Given the description of an element on the screen output the (x, y) to click on. 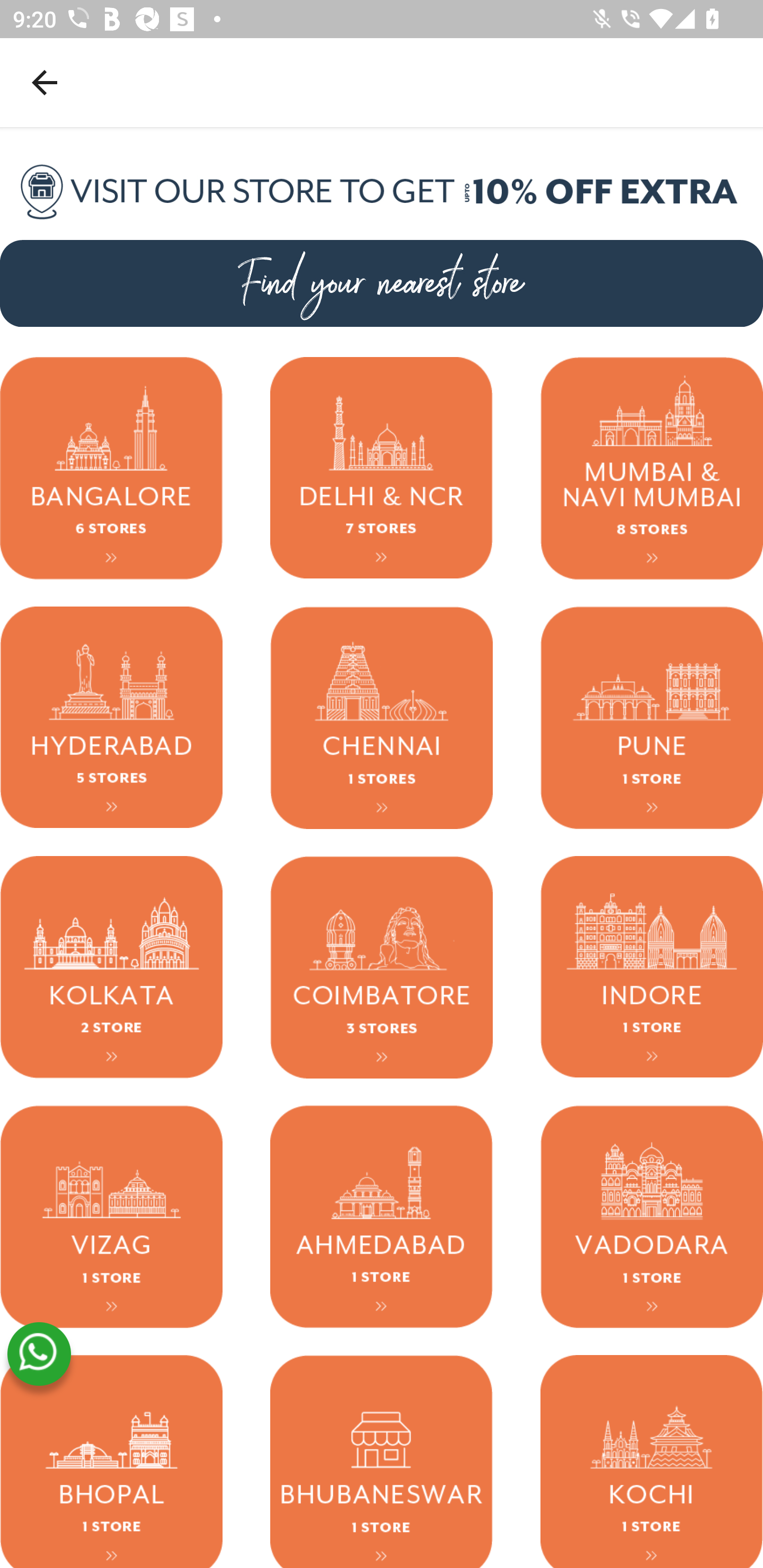
Navigate up (44, 82)
Bangalore (111, 467)
NCR (381, 467)
Mumbai (651, 467)
Hyderabad (111, 717)
Pune-store (651, 717)
Kolkata (111, 966)
Indore (651, 966)
Vizag (111, 1215)
vadodara (651, 1215)
whatsapp (38, 1353)
Bhopal (111, 1461)
Bhubneshwar (381, 1461)
